Given the description of an element on the screen output the (x, y) to click on. 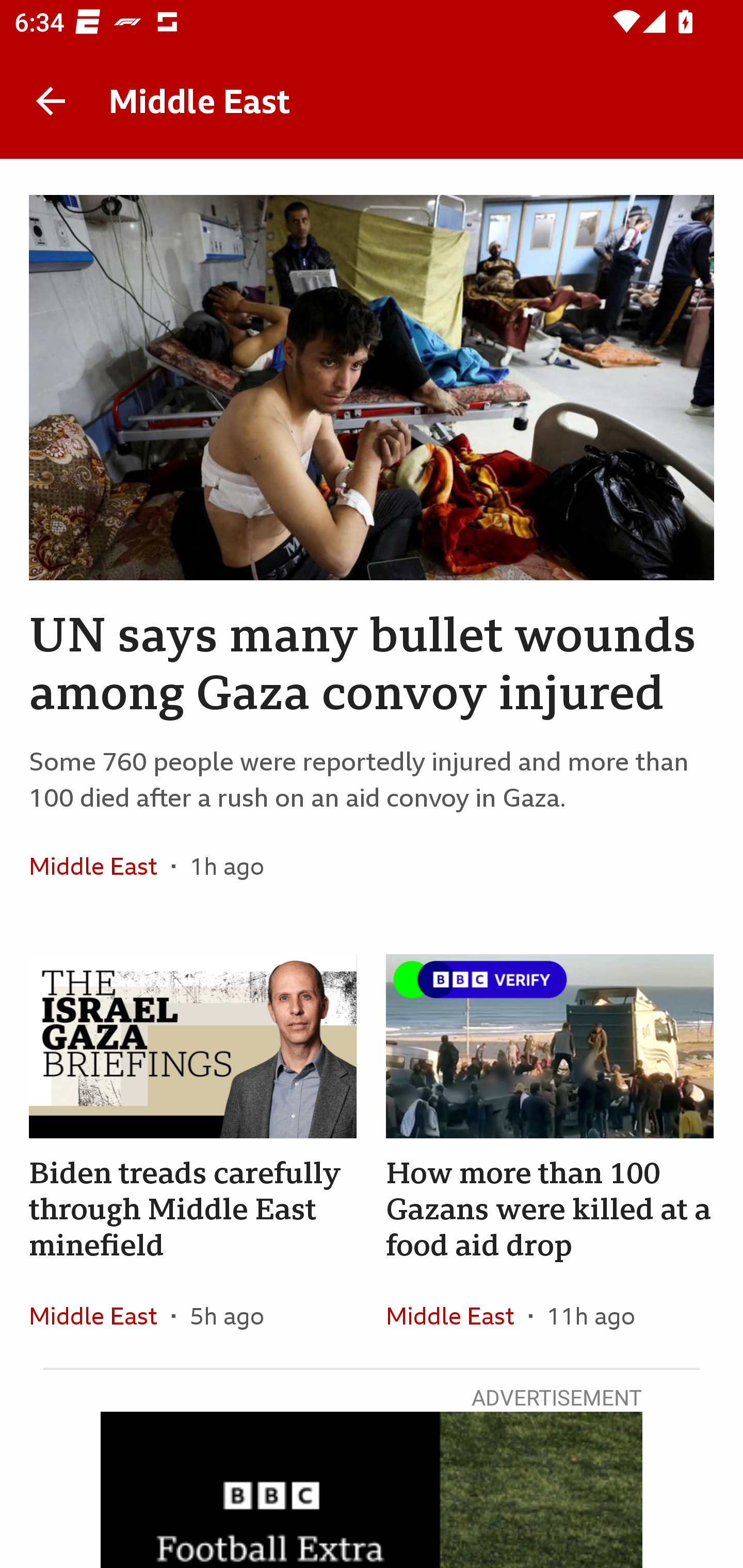
Back (50, 101)
Middle East In the section Middle East (99, 865)
Middle East In the section Middle East (99, 1315)
Middle East In the section Middle East (457, 1315)
